Given the description of an element on the screen output the (x, y) to click on. 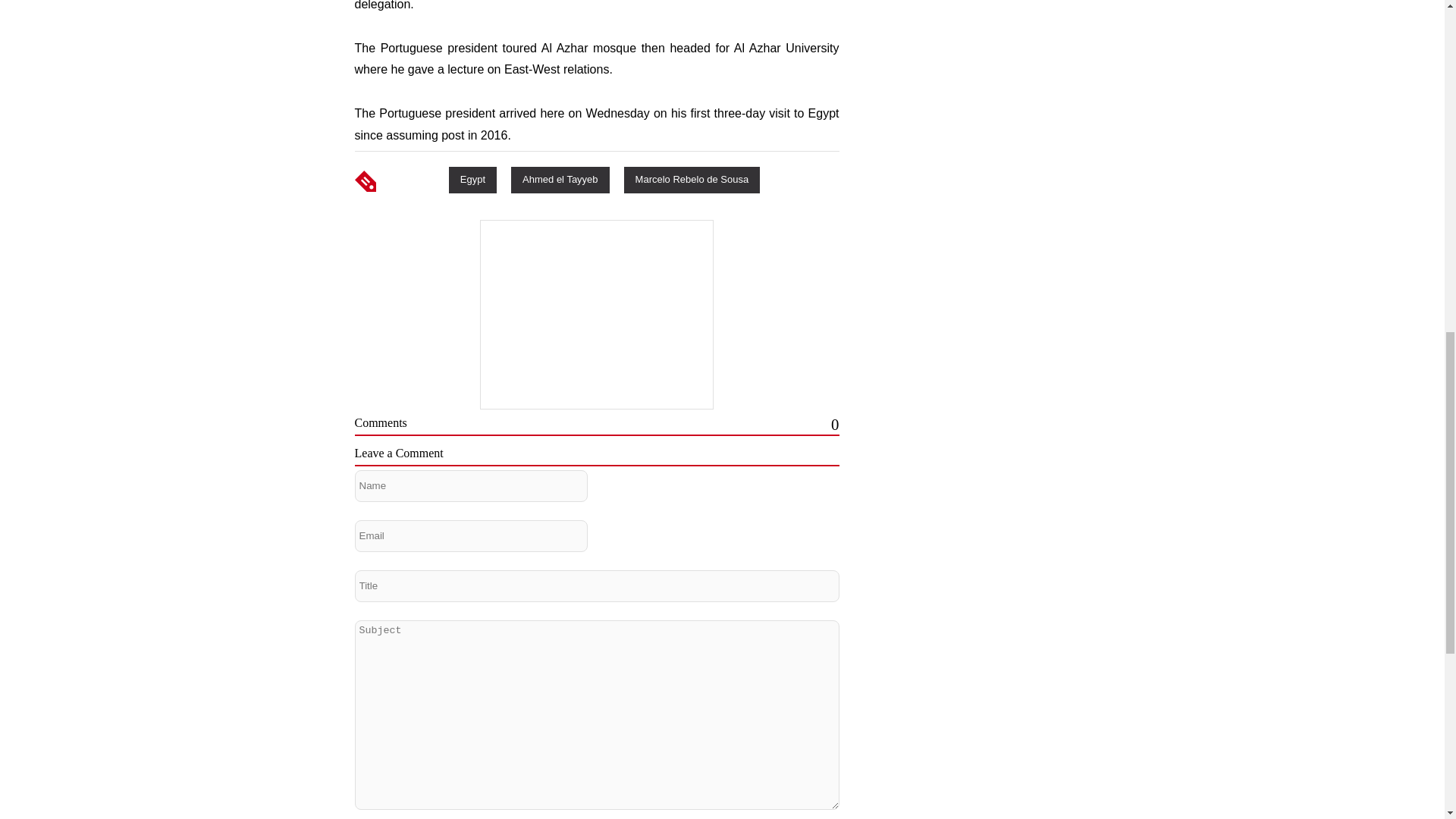
Egypt (472, 179)
Ahmed el Tayyeb (560, 179)
Marcelo Rebelo de Sousa (692, 179)
